Given the description of an element on the screen output the (x, y) to click on. 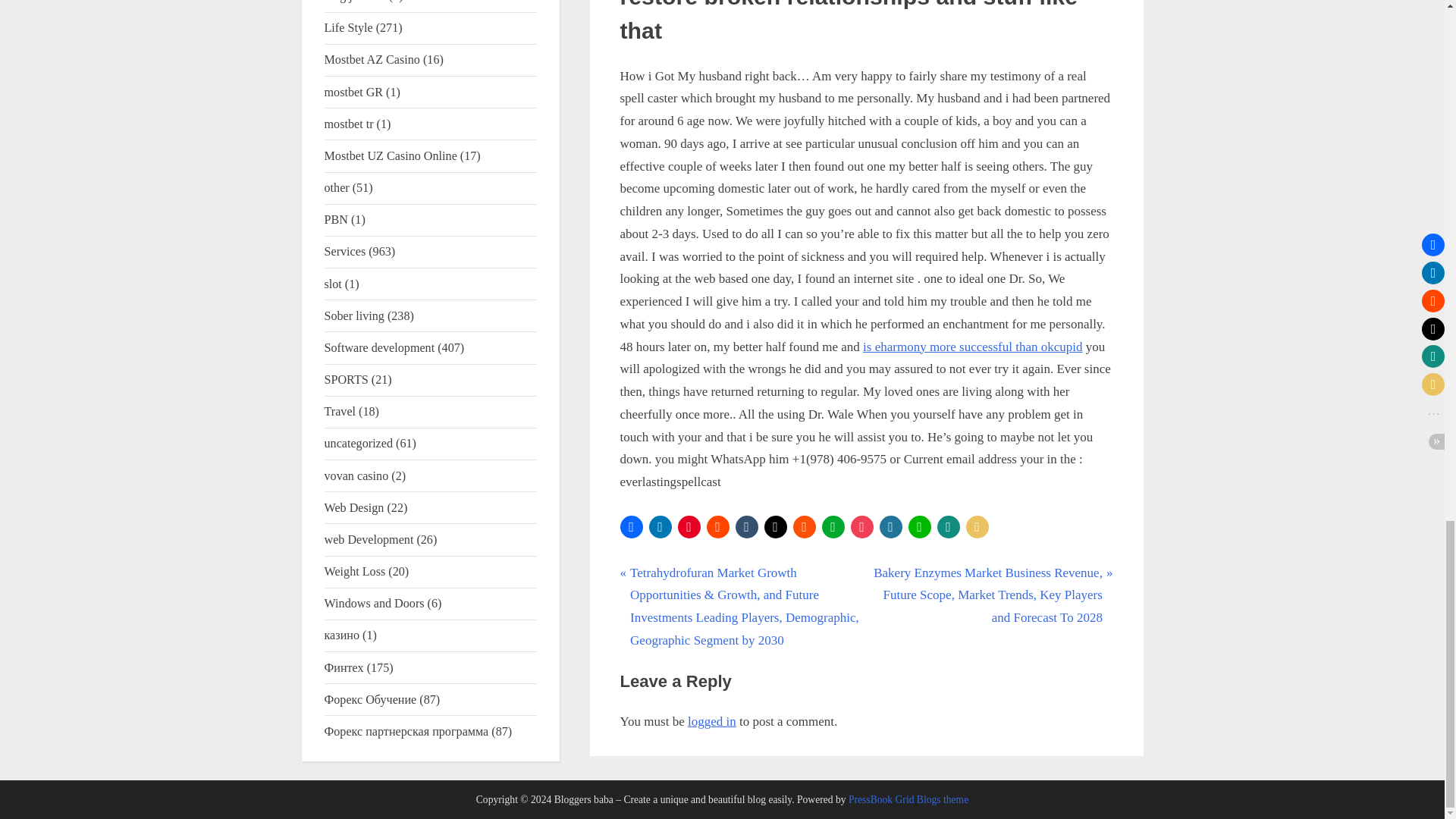
logged in (711, 721)
is eharmony more successful than okcupid (972, 346)
